Given the description of an element on the screen output the (x, y) to click on. 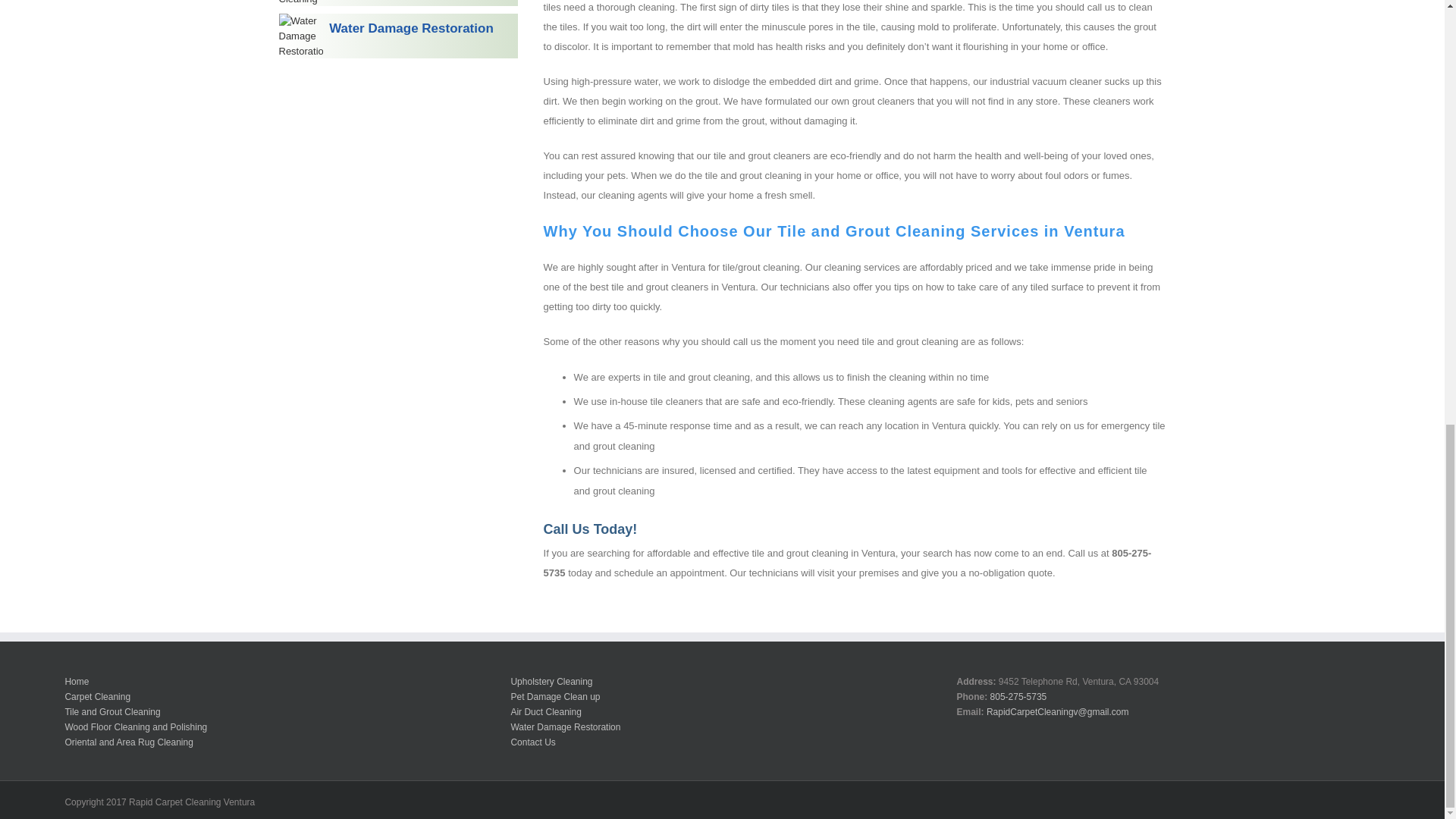
Home (76, 681)
Carpet Cleaning (97, 696)
Upholstery Cleaning (551, 681)
Tile and Grout Cleaning (112, 711)
Wood Floor Cleaning and Polishing (135, 726)
Air Duct Cleaning (398, 2)
Water Damage Restoration (398, 35)
Water Damage Restoration (565, 726)
805-275-5735 (1018, 696)
Oriental and Area Rug Cleaning (128, 742)
Air Duct Cleaning (545, 711)
Pet Damage Clean up (555, 696)
Contact Us (532, 742)
